Given the description of an element on the screen output the (x, y) to click on. 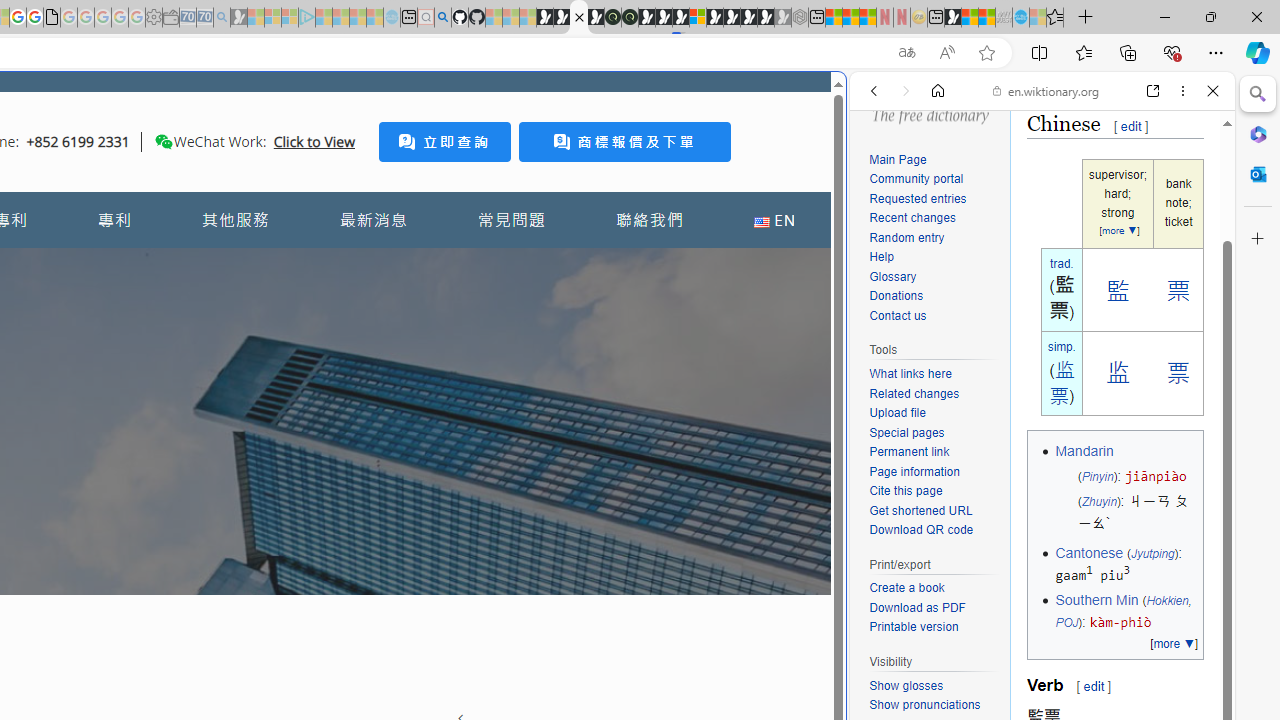
Requested entries (934, 199)
Related changes (934, 393)
Community portal (916, 179)
Related changes (914, 393)
Preferences (1189, 228)
Hokkien (1167, 600)
Tabs you've opened (276, 265)
Download QR code (934, 530)
Open link in new tab (1153, 91)
